Given the description of an element on the screen output the (x, y) to click on. 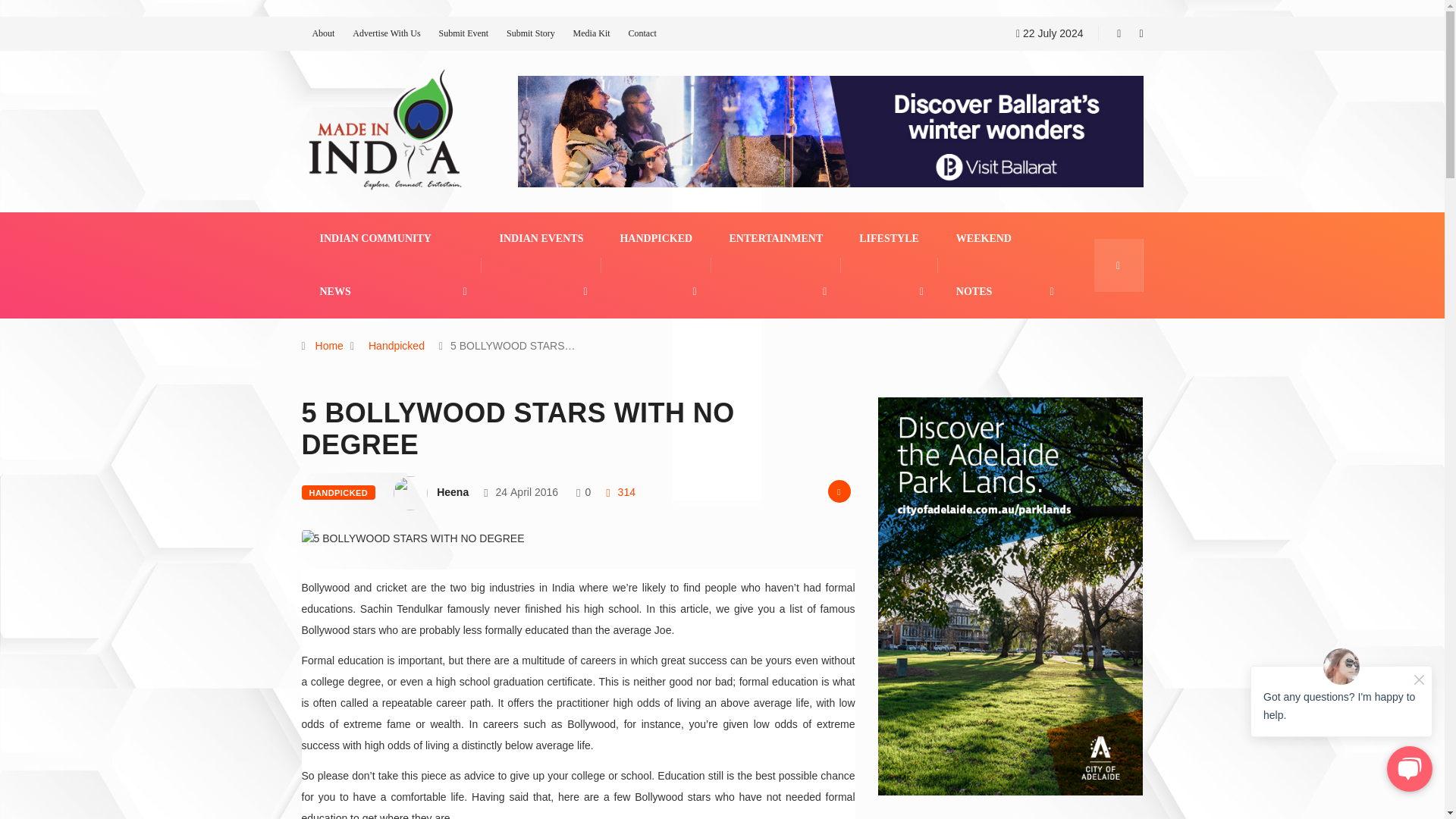
Media Kit (591, 32)
INDIAN COMMUNITY NEWS (391, 265)
About (322, 32)
ENTERTAINMENT (776, 238)
HANDPICKED (656, 238)
INDIAN EVENTS (541, 238)
Contact (641, 32)
Submit Event (462, 32)
Advertise With Us (386, 32)
Submit Story (530, 32)
